Given the description of an element on the screen output the (x, y) to click on. 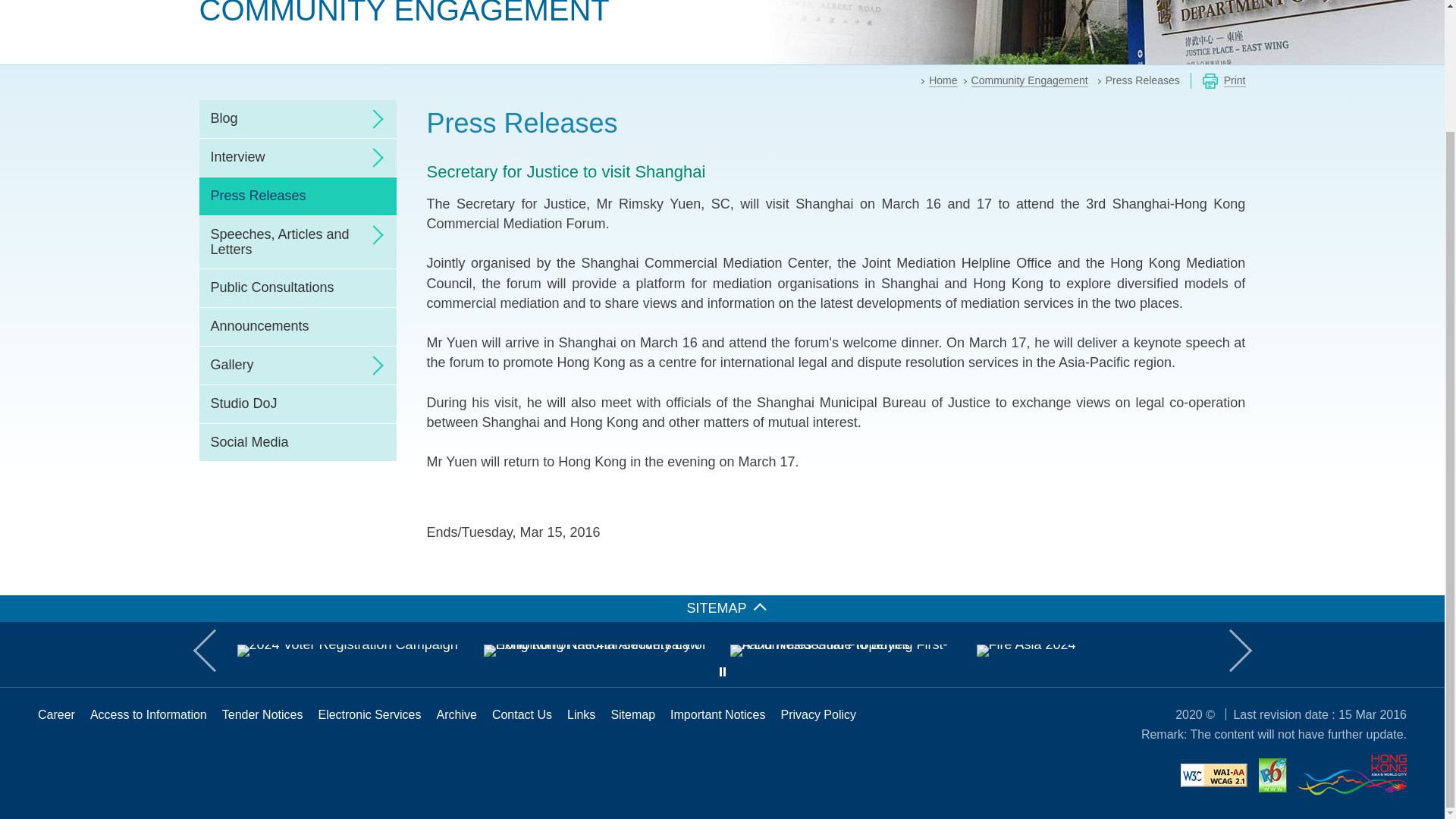
Blog (297, 118)
Press Releases (297, 196)
Speeches, Articles and Letters (297, 242)
Interview (297, 157)
